Given the description of an element on the screen output the (x, y) to click on. 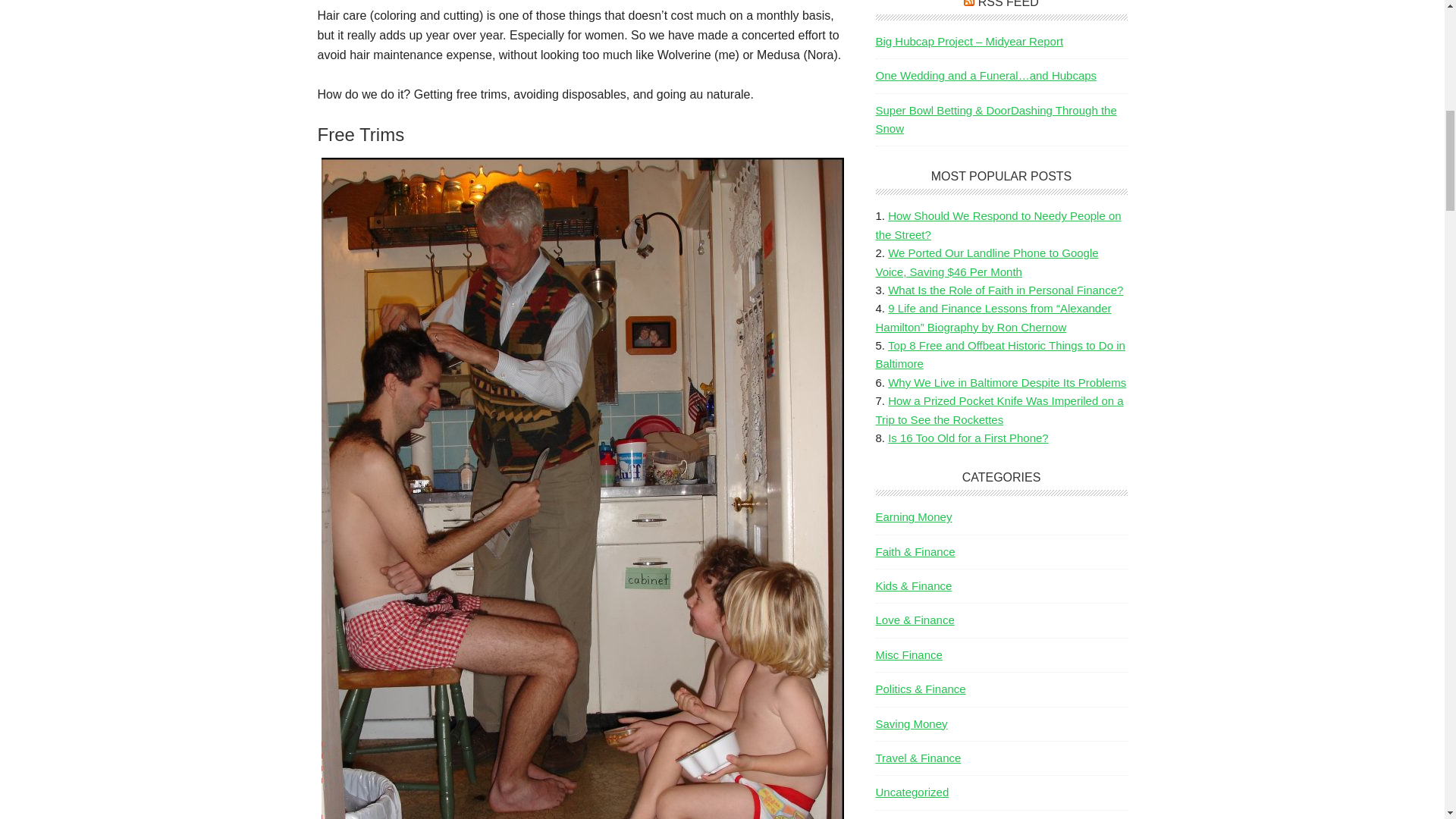
What Is the Role of Faith in Personal Finance? (1005, 289)
RSS FEED (1008, 4)
Top 8 Free and Offbeat Historic Things to Do in Baltimore (999, 354)
Why We Live in Baltimore Despite Its Problems (1006, 382)
How Should We Respond to Needy People on the Street? (998, 224)
